Given the description of an element on the screen output the (x, y) to click on. 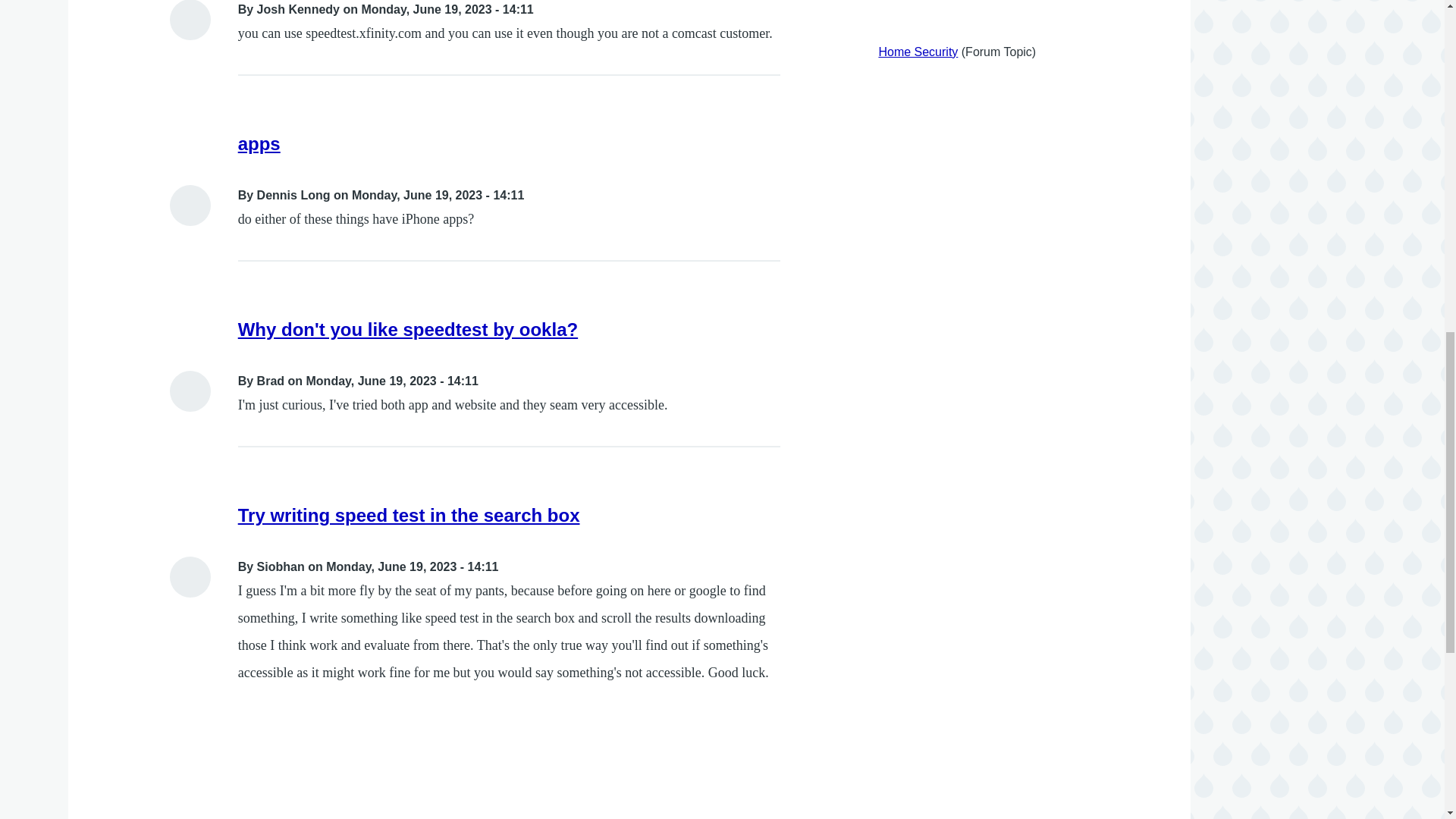
Home Security (917, 51)
apps (259, 143)
Why don't you like speedtest by ookla? (408, 329)
Try writing speed test in the search box (408, 515)
